Given the description of an element on the screen output the (x, y) to click on. 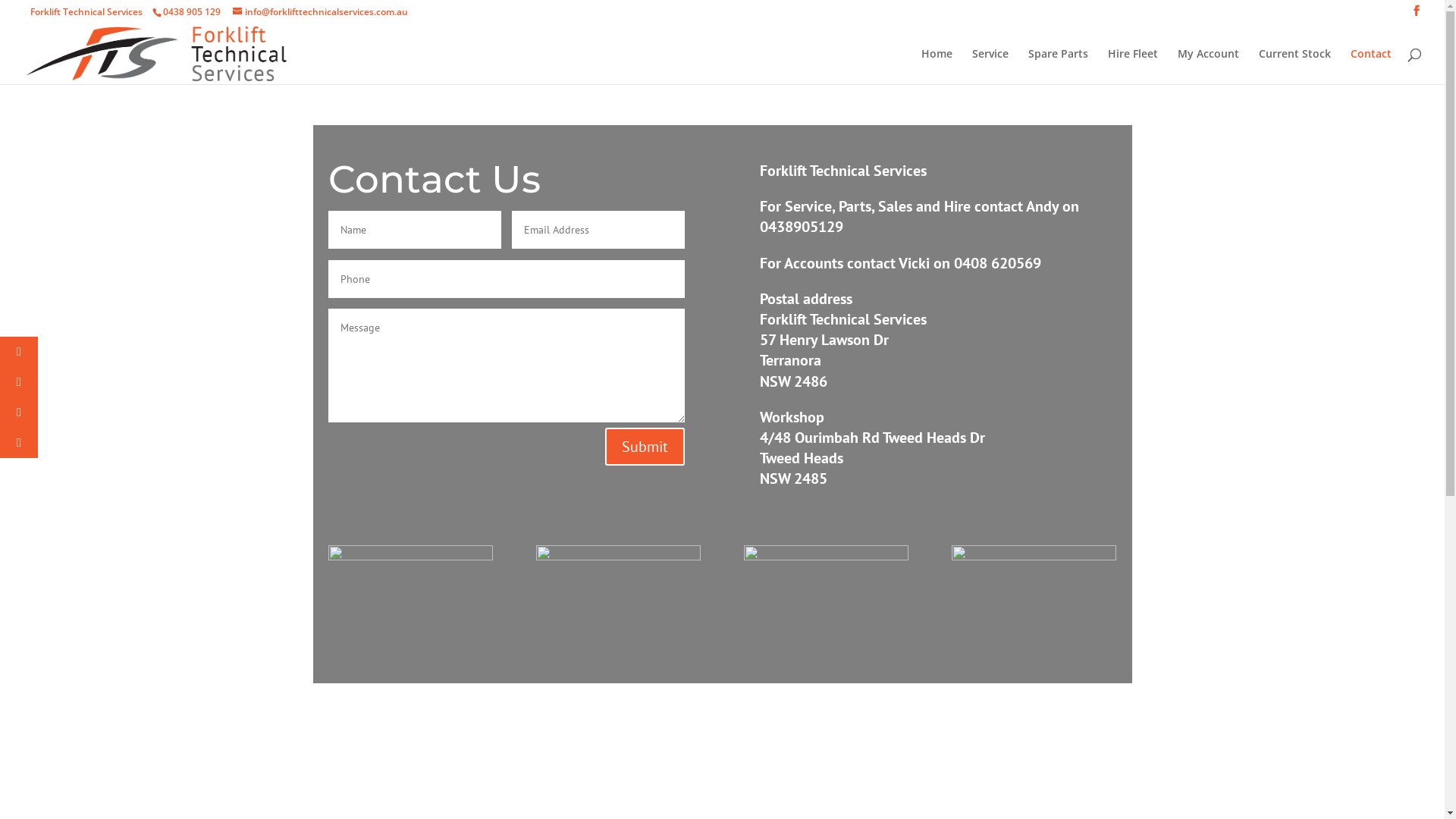
Image-4 (2) Element type: hover (618, 555)
Contact Element type: text (1370, 66)
Spare Parts Element type: text (1058, 66)
Service Element type: text (990, 66)
0438 905 129 Element type: text (191, 11)
IMG_5641 (1) Element type: hover (825, 555)
My Account Element type: text (1208, 66)
Hire Fleet Element type: text (1132, 66)
Submit Element type: text (644, 446)
info@forklifttechnicalservices.com.au Element type: text (319, 11)
Home Element type: text (936, 66)
Image-5 Element type: hover (409, 555)
Current Stock Element type: text (1294, 66)
Image-2 (2) Element type: hover (1033, 555)
